Given the description of an element on the screen output the (x, y) to click on. 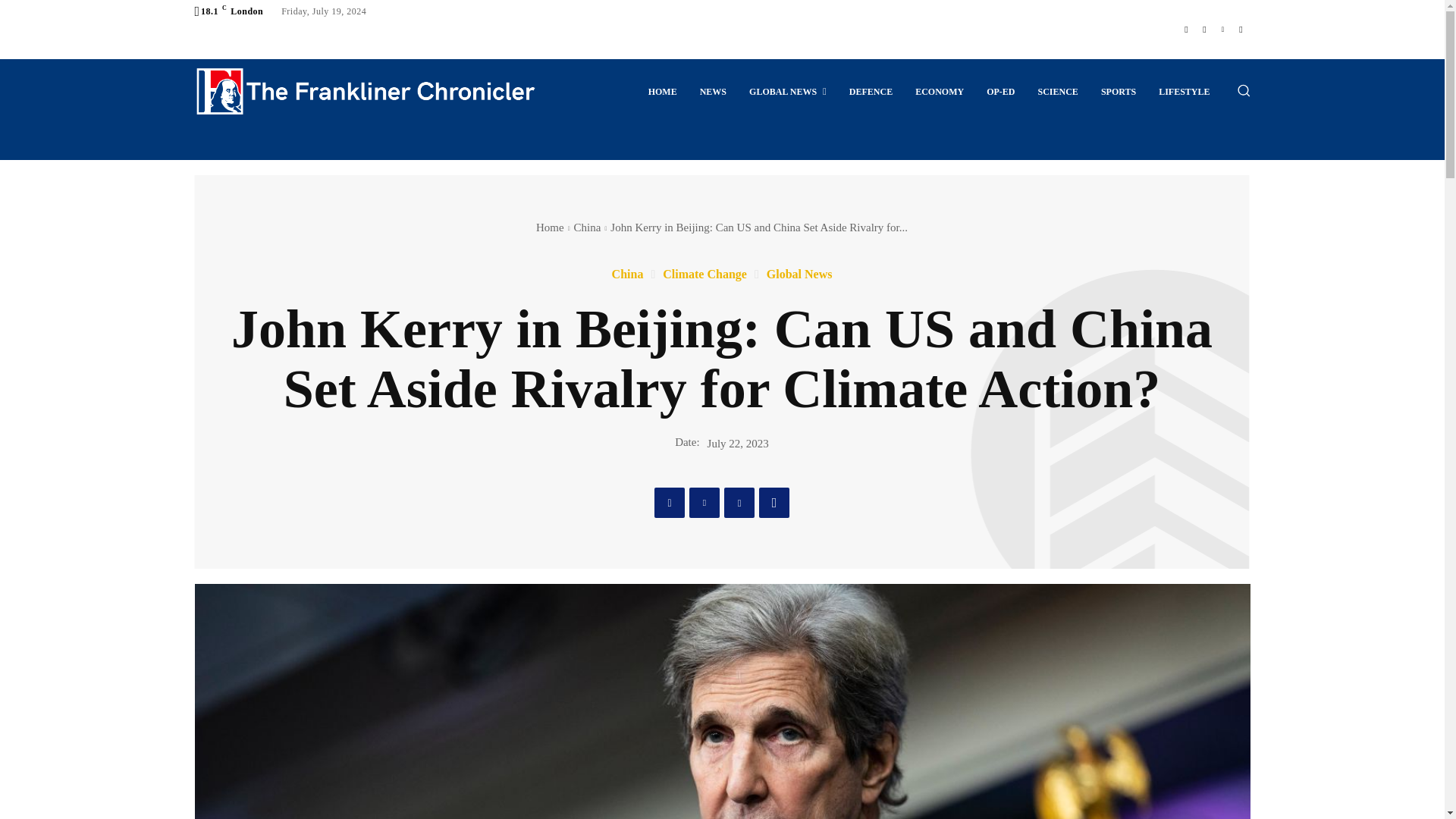
Pinterest (738, 502)
Facebook (668, 502)
Facebook (1185, 29)
Instagram (1203, 29)
Twitter (703, 502)
View all posts in China (587, 227)
Twitter (1221, 29)
WhatsApp (773, 502)
Youtube (1240, 29)
